Given the description of an element on the screen output the (x, y) to click on. 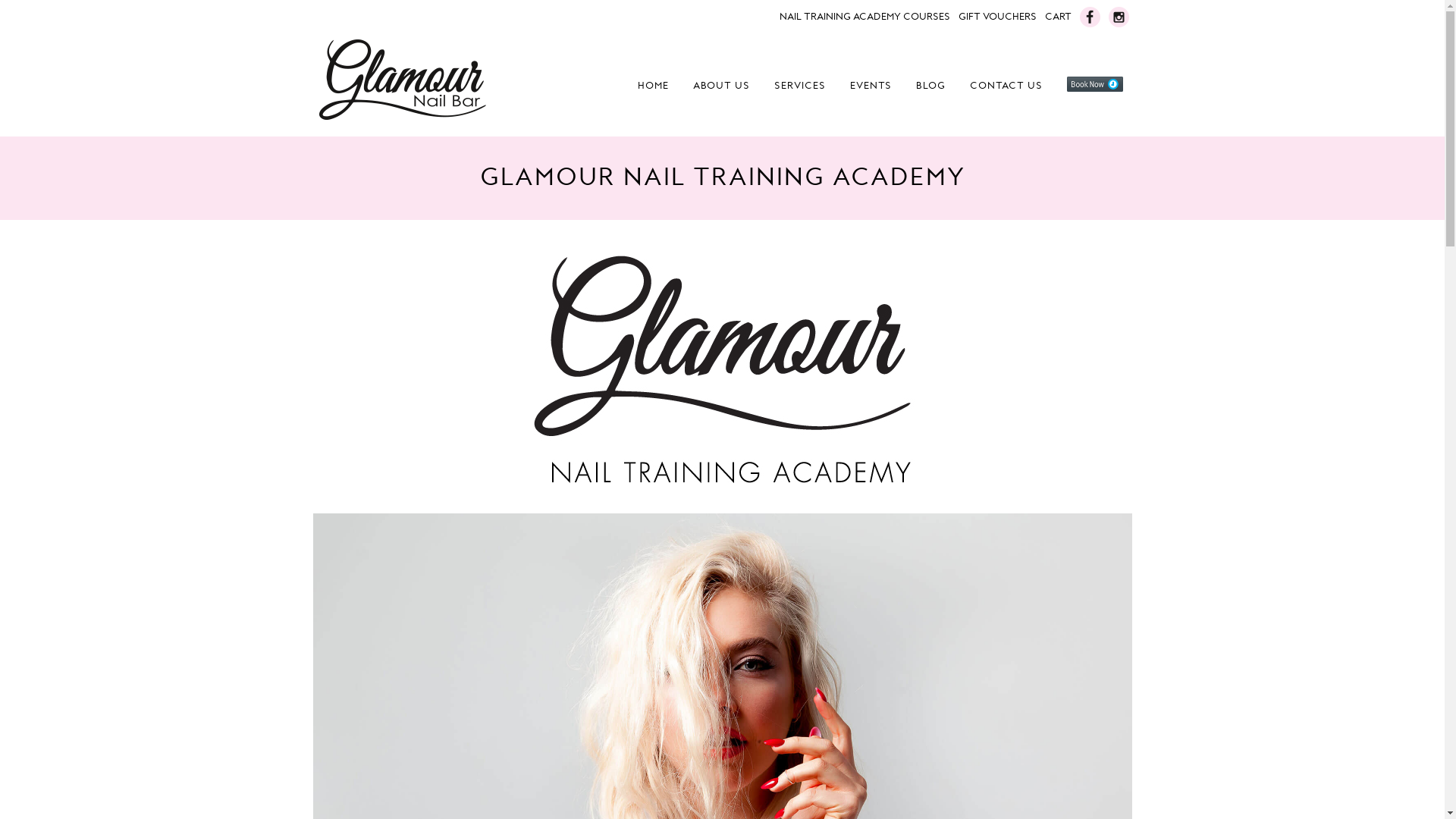
BLOG Element type: text (930, 84)
NAIL TRAINING ACADEMY COURSES Element type: text (864, 21)
CART Element type: text (1057, 21)
EVENTS Element type: text (870, 84)
SERVICES Element type: text (799, 84)
GIFT VOUCHERS Element type: text (997, 21)
ABOUT US Element type: text (721, 84)
CONTACT US Element type: text (1005, 84)
HOME Element type: text (652, 84)
